Given the description of an element on the screen output the (x, y) to click on. 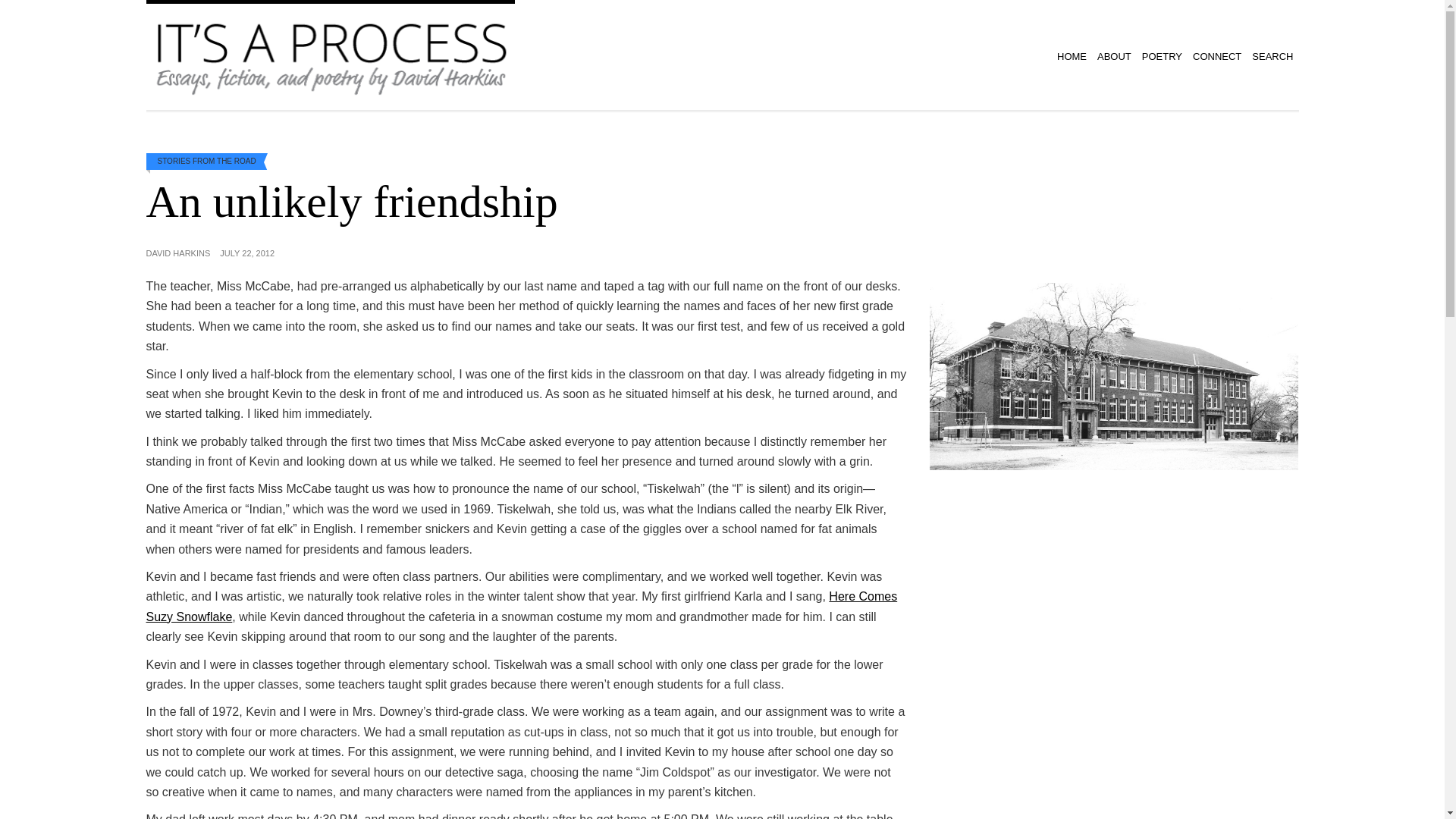
Here Comes Suzy Snowflake (520, 605)
CONNECT (1217, 55)
POETRY (1162, 55)
STORIES FROM THE ROAD (206, 161)
SEARCH (1272, 55)
HOME (1071, 55)
ABOUT (1114, 55)
